Given the description of an element on the screen output the (x, y) to click on. 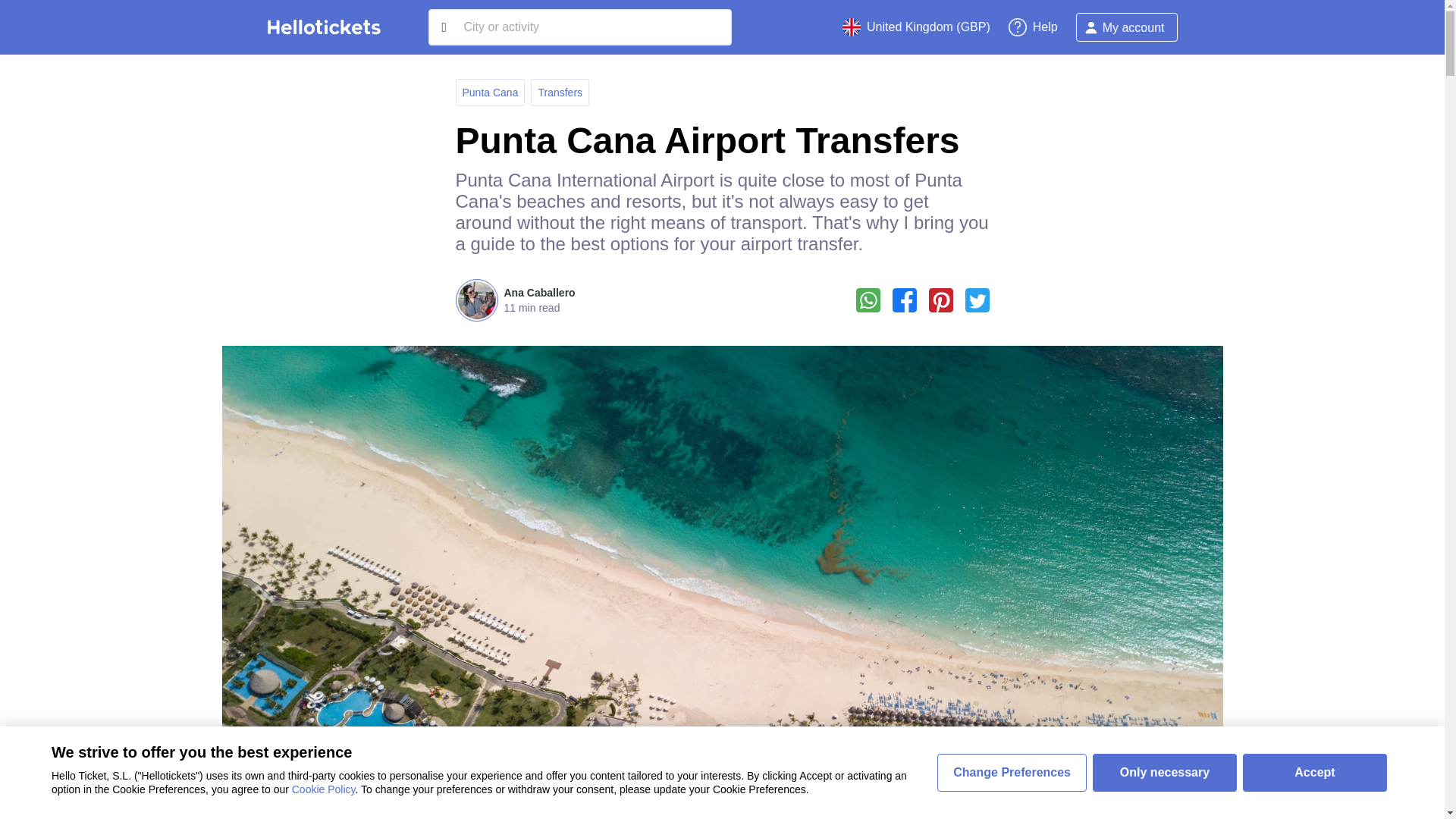
My account (1126, 27)
Transfers (559, 92)
Punta Cana (490, 92)
Help (1032, 27)
